Given the description of an element on the screen output the (x, y) to click on. 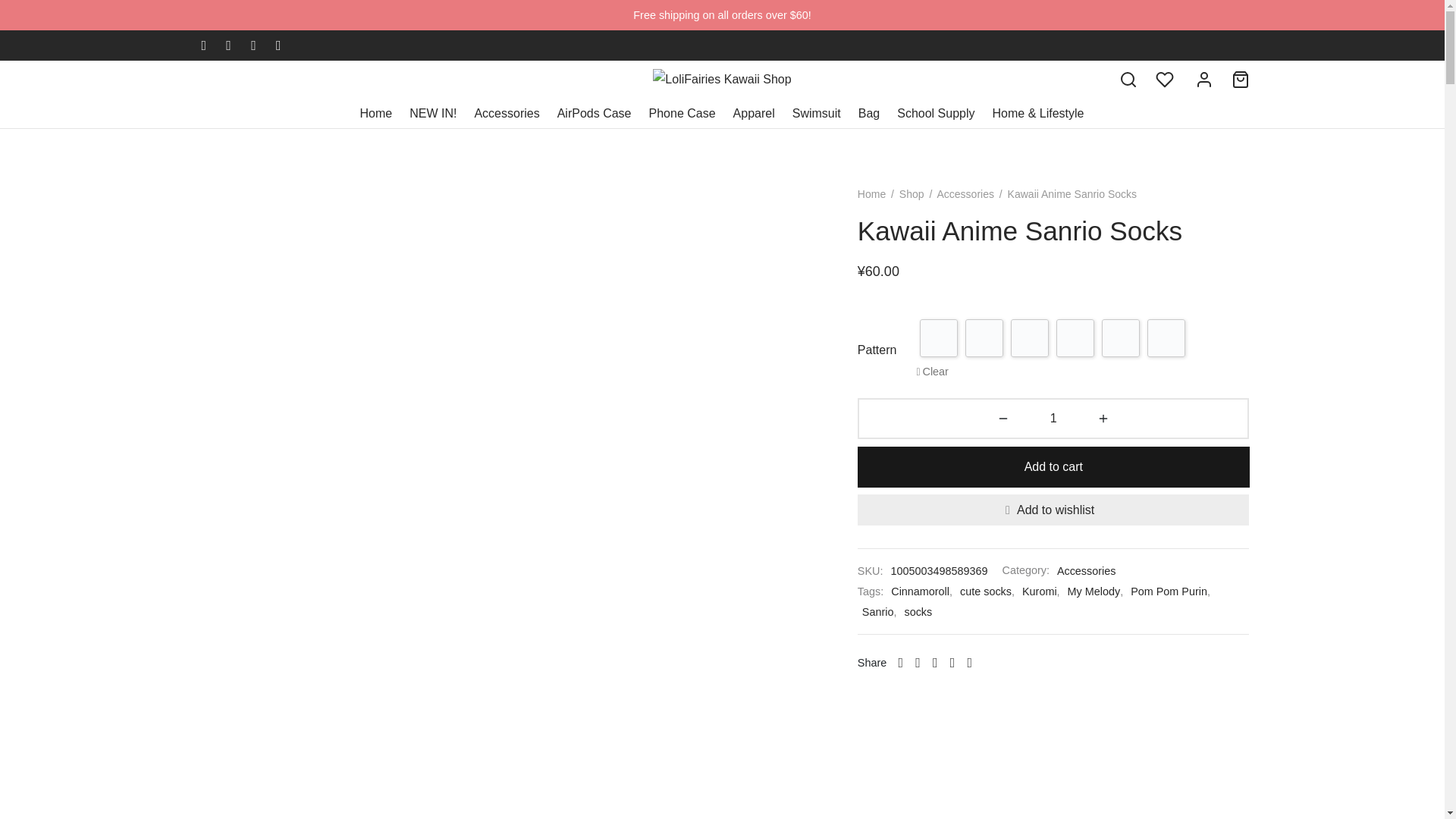
Phone Case (682, 113)
Swimsuit (816, 113)
Accessories (506, 113)
AirPods Case (594, 113)
Home (376, 113)
School Supply (935, 113)
Cart (1240, 79)
NEW IN! (433, 113)
Apparel (753, 113)
1 (1053, 418)
